Given the description of an element on the screen output the (x, y) to click on. 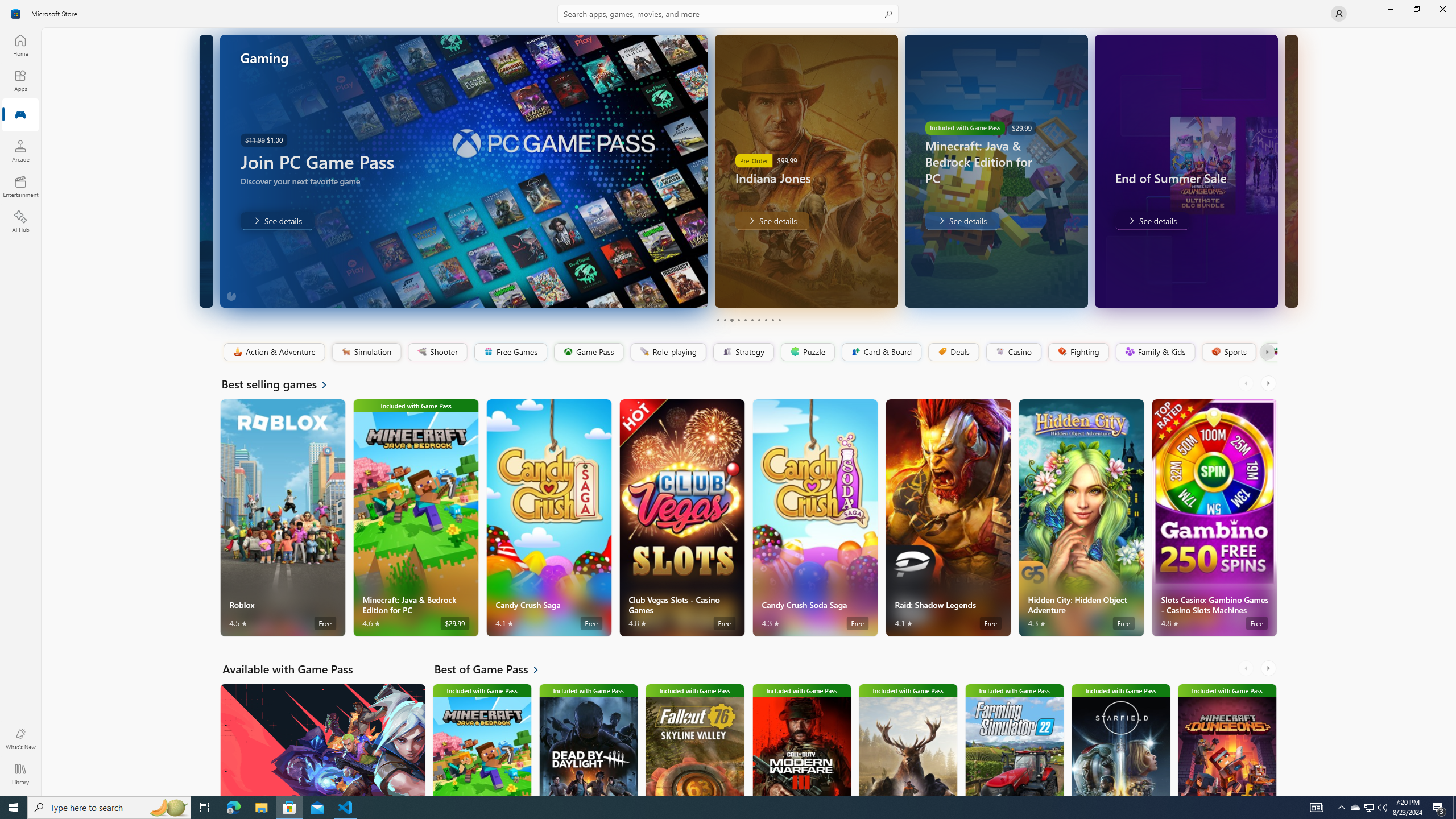
Restore Microsoft Store (1416, 9)
AutomationID: Image (1290, 170)
Available with Game Pass. VALORANT (322, 739)
AutomationID: RightScrollButton (1269, 668)
AI Hub (20, 221)
Page 1 (717, 319)
Free Games (509, 352)
End of Summer Sale. Save up to 80%.  . See details (1151, 221)
Page 9 (772, 319)
What's New (20, 738)
